Given the description of an element on the screen output the (x, y) to click on. 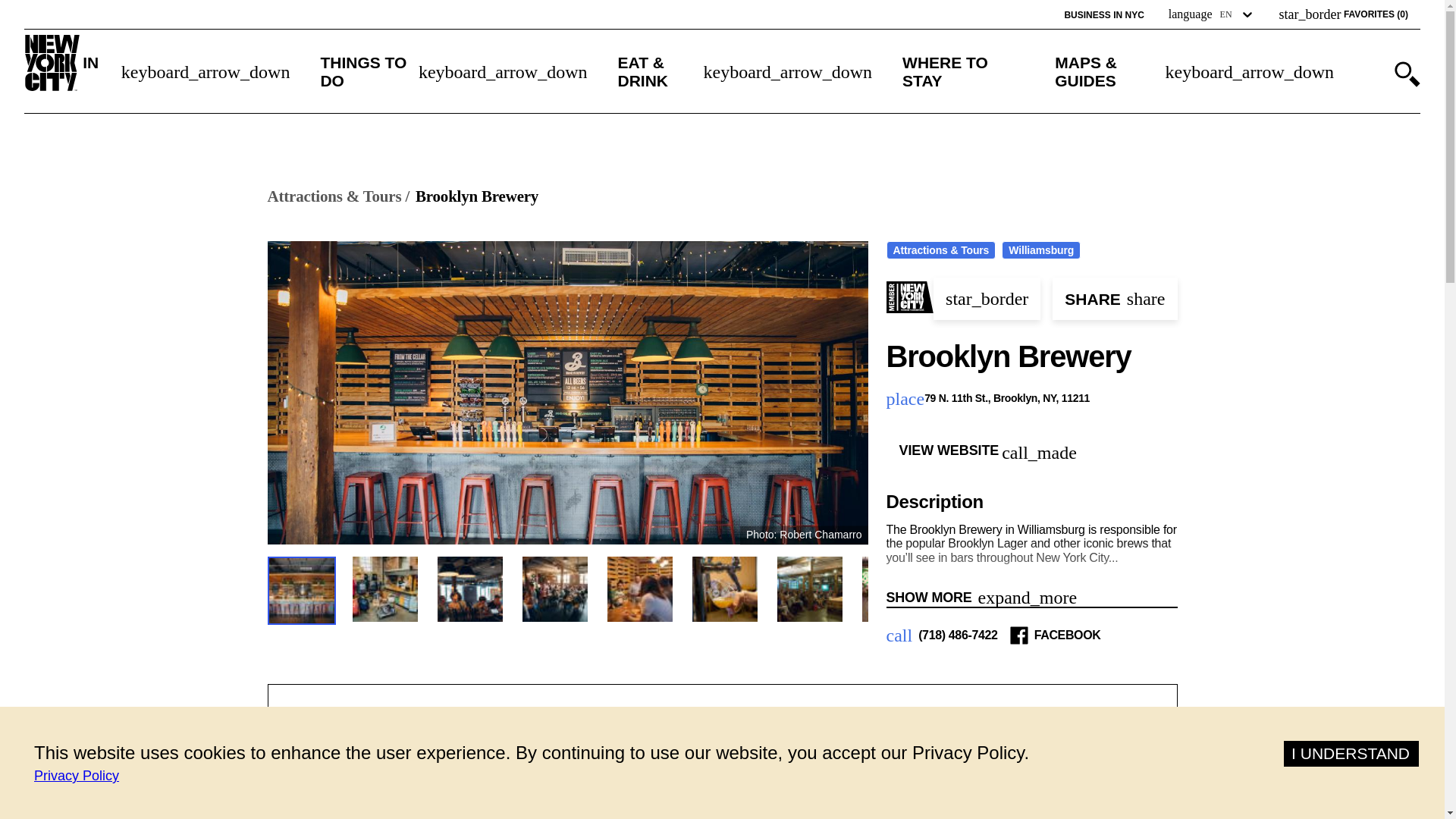
Skip to main content (78, 11)
FACEBOOK (1066, 635)
VISIT WEBSITE (793, 797)
79 N. 11th St., Brooklyn, NY, 11211 (1008, 398)
Brooklyn Brewery (476, 196)
BUSINESS IN NYC (1103, 14)
